Given the description of an element on the screen output the (x, y) to click on. 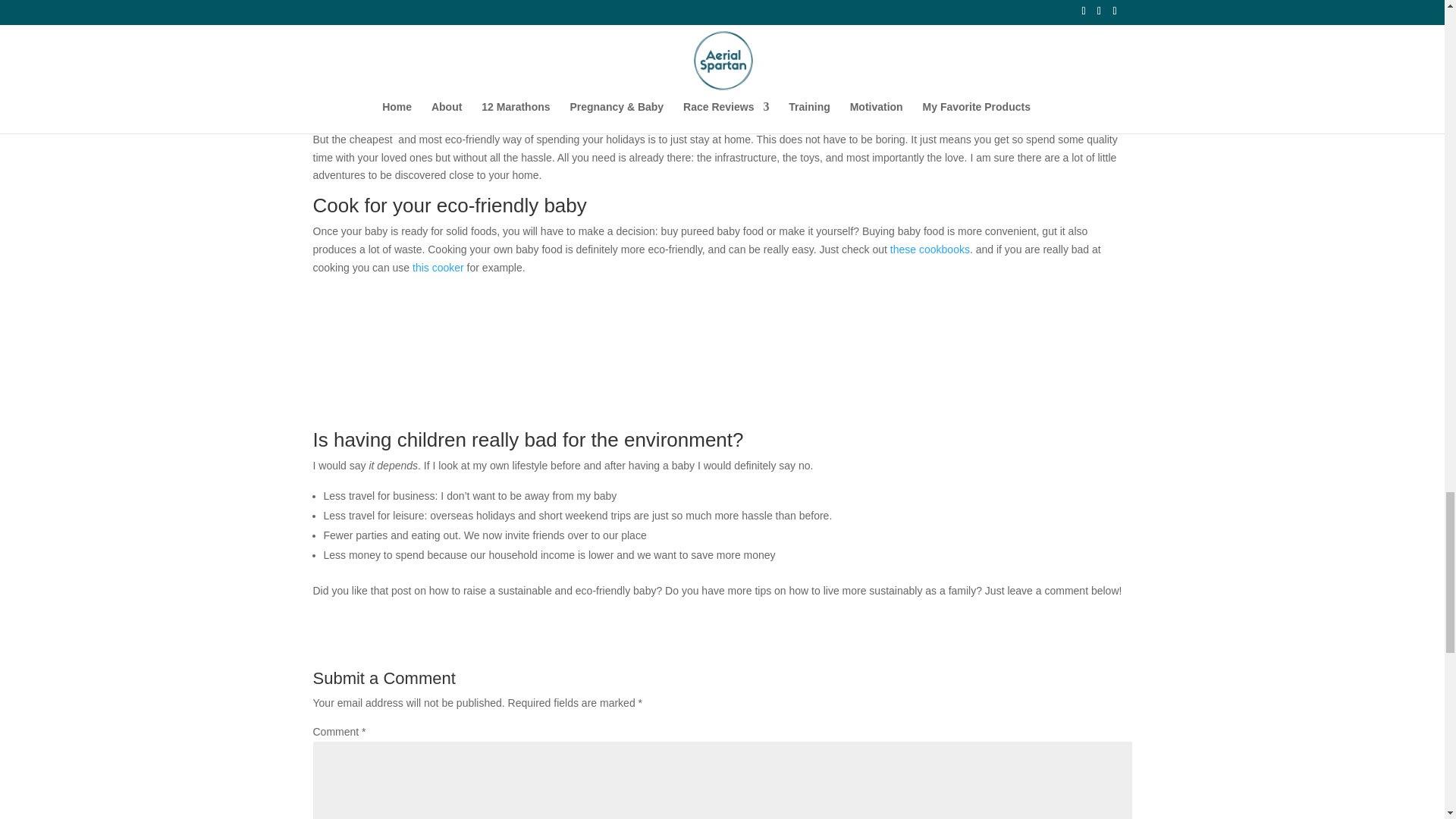
this cooker (438, 267)
these cookbooks (929, 249)
DIY dummy chains (357, 3)
